Given the description of an element on the screen output the (x, y) to click on. 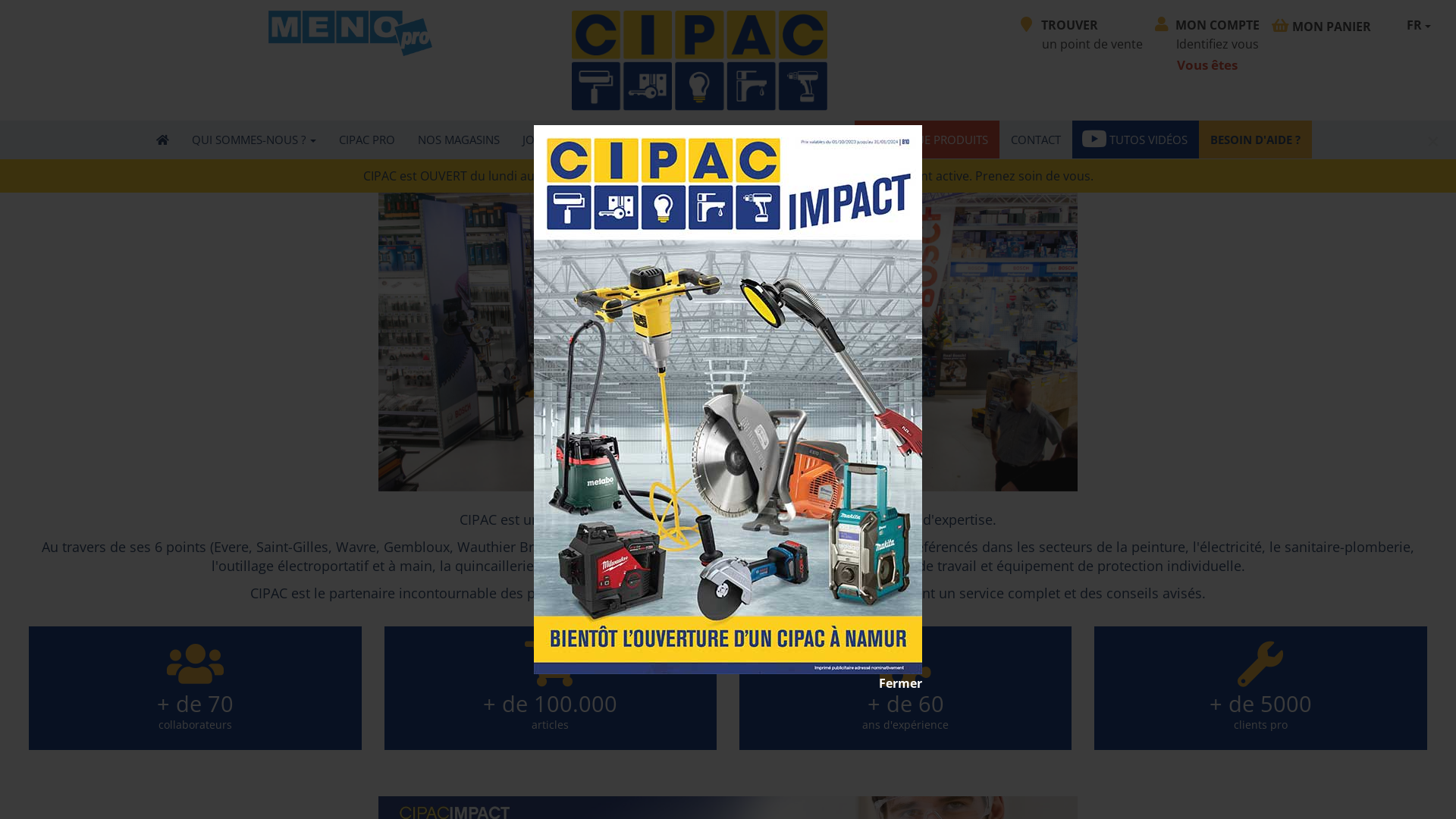
MON COMPTE
Identifiez vous Element type: text (1206, 34)
NEWS Element type: text (597, 139)
TROUVER
un point de vente Element type: text (1081, 34)
LOCATION Element type: text (815, 139)
GARANTIES Element type: text (734, 139)
JOBS Element type: text (540, 139)
BESOIN D'AIDE ? Element type: text (1254, 139)
CIPAC PRO Element type: text (366, 139)
QUI SOMMES-NOUS ? Element type: text (253, 139)
FR Element type: text (1418, 25)
CATALOGUE PRODUITS Element type: text (925, 139)
MON PANIER Element type: text (1330, 26)
CONTACT Element type: text (1035, 139)
Fermer Element type: text (727, 683)
NOS MAGASINS Element type: text (458, 139)
FOLDERS Element type: text (658, 139)
